Given the description of an element on the screen output the (x, y) to click on. 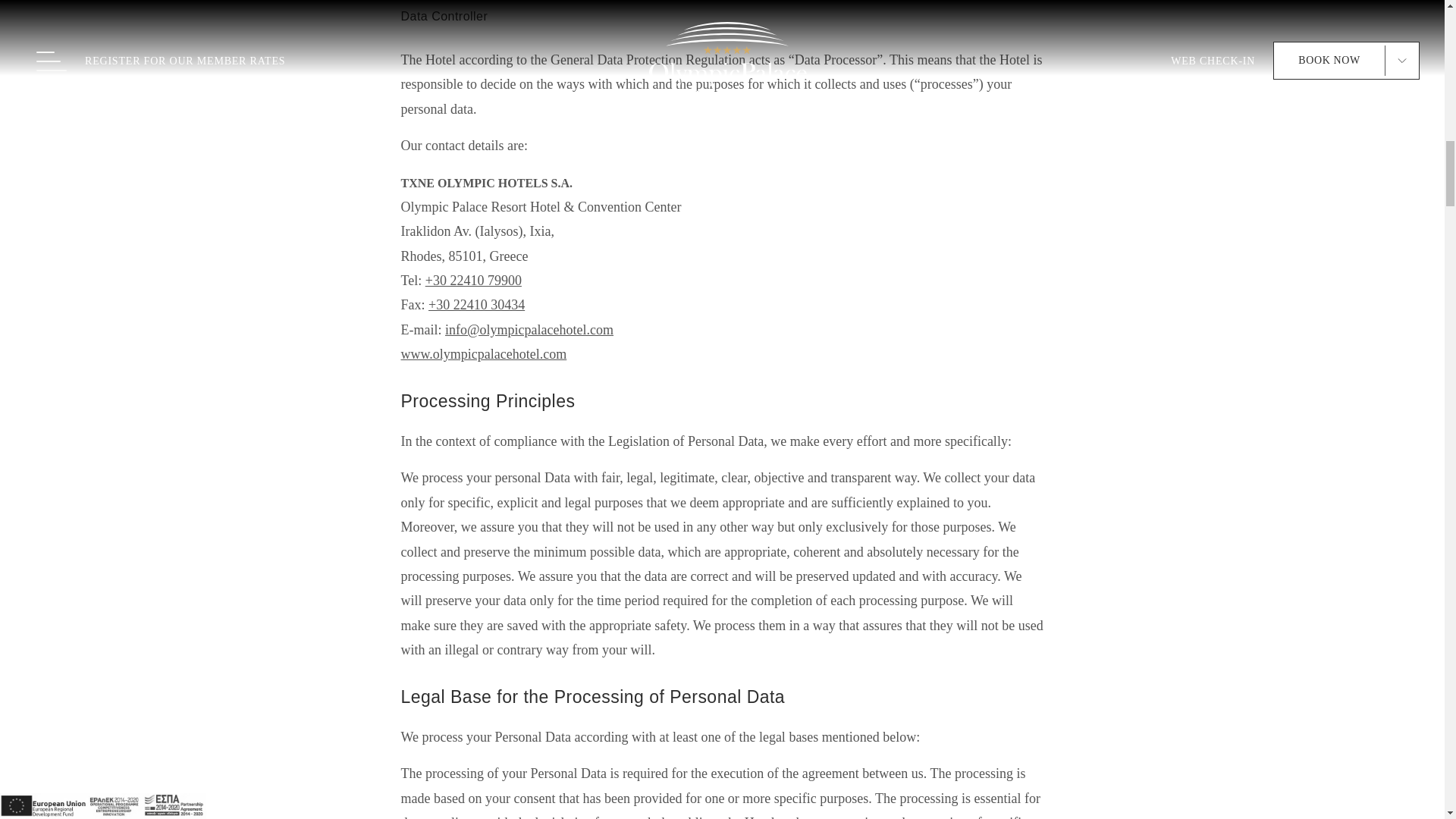
www.olympicpalacehotel.com (483, 353)
